Given the description of an element on the screen output the (x, y) to click on. 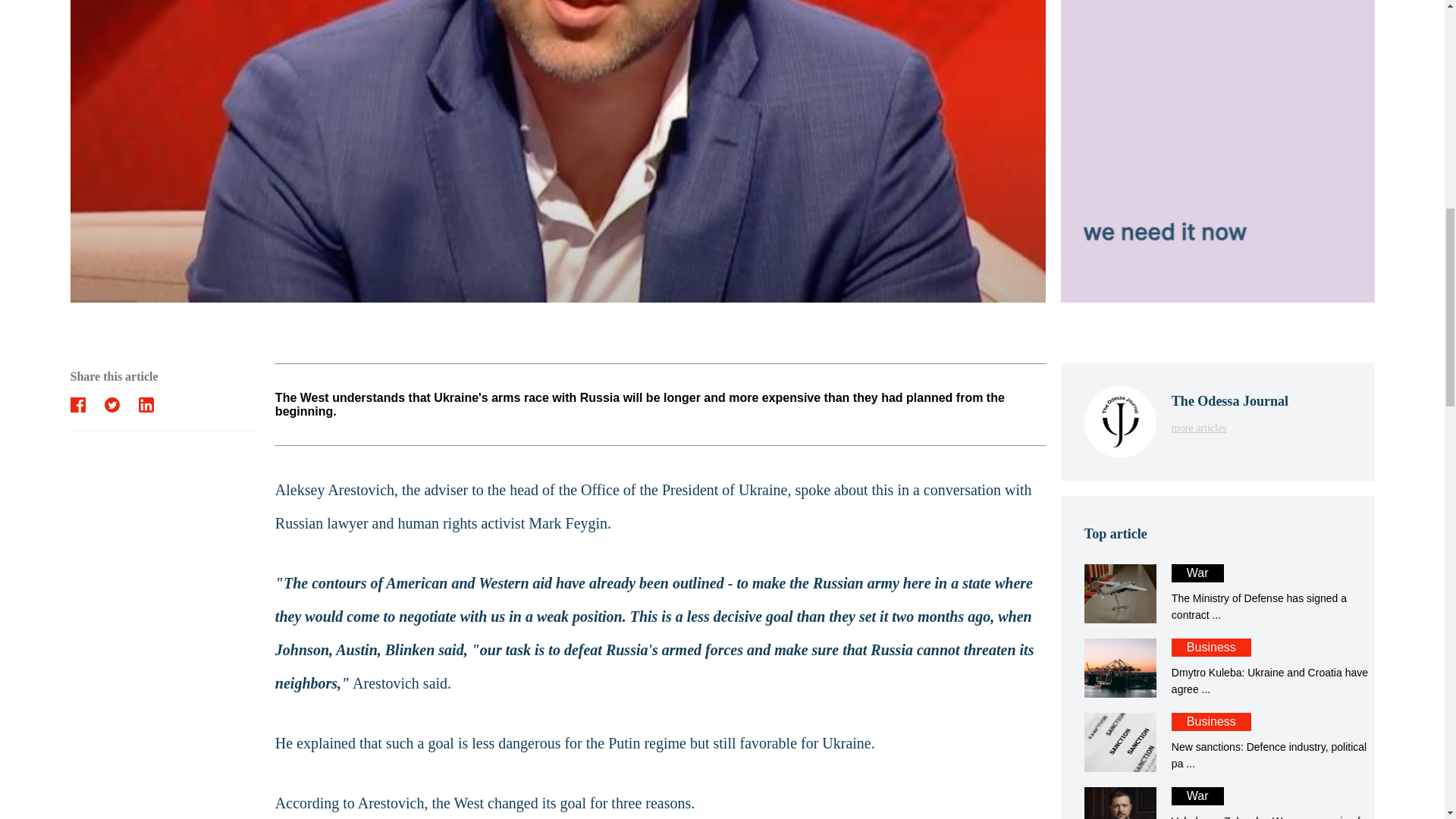
Read (1218, 593)
Read (1218, 667)
more articles (1230, 427)
Read (1218, 803)
more articles (1218, 742)
Read (1218, 593)
